Given the description of an element on the screen output the (x, y) to click on. 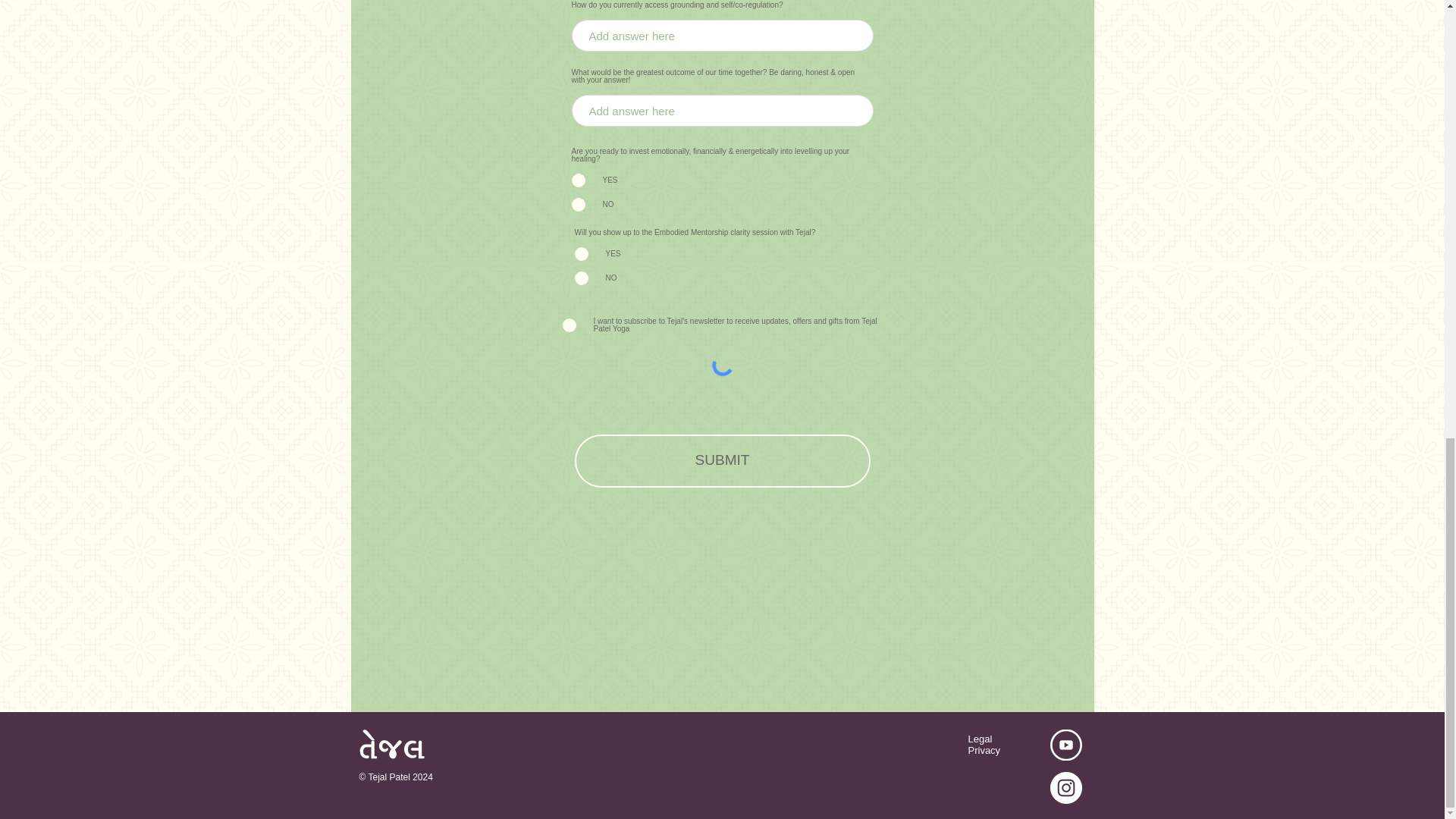
youtube.png (1065, 744)
SUBMIT (722, 460)
Legal (979, 738)
Privacy (984, 749)
